Given the description of an element on the screen output the (x, y) to click on. 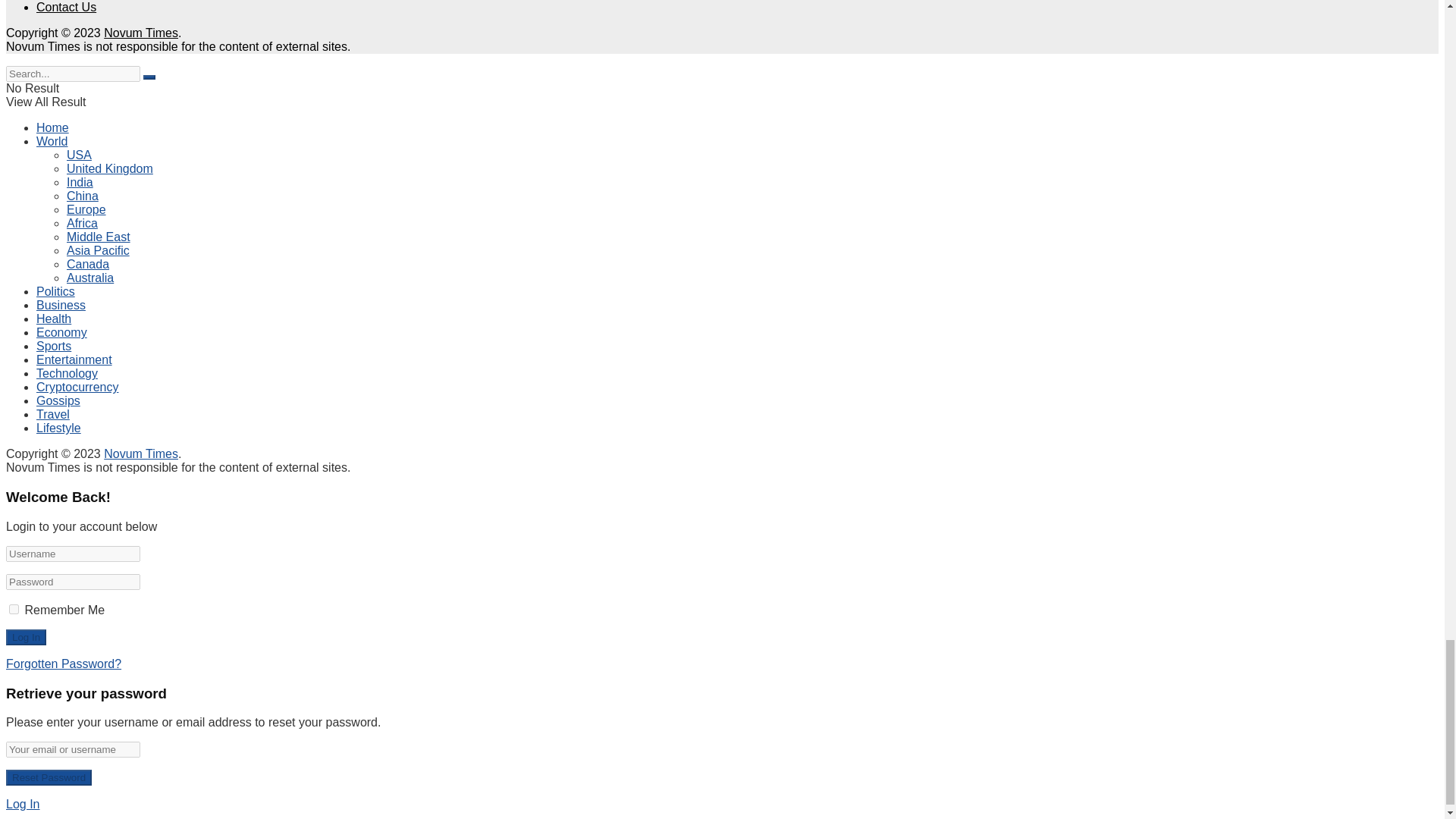
true (13, 609)
Log In (25, 637)
Reset Password (48, 777)
